Given the description of an element on the screen output the (x, y) to click on. 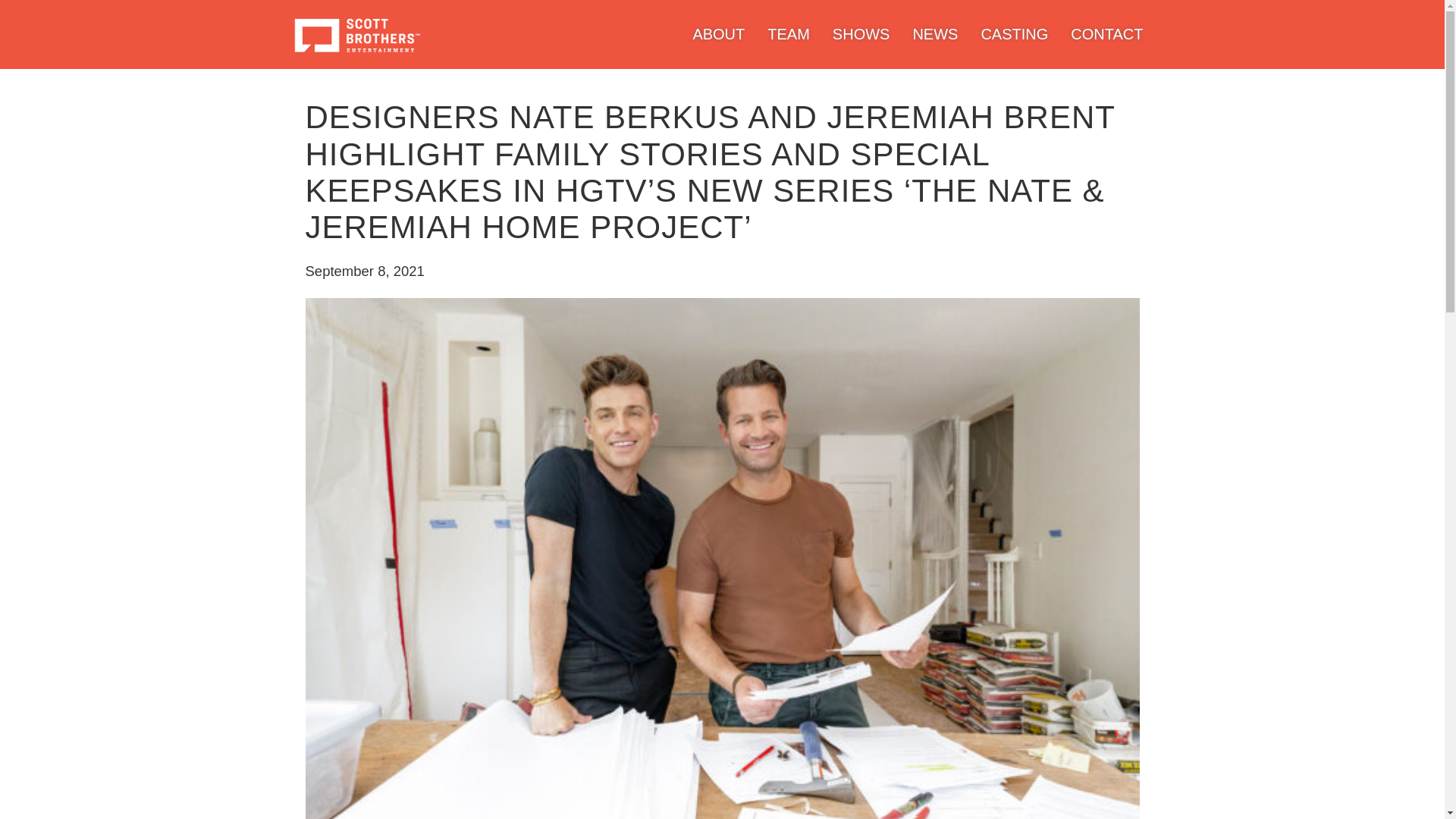
TEAM (788, 33)
CASTING (1013, 33)
SCOTT BROTHERS ENTERTAINMENT (355, 34)
SHOWS (860, 33)
CONTACT (1106, 33)
NEWS (935, 33)
ABOUT (718, 33)
